Given the description of an element on the screen output the (x, y) to click on. 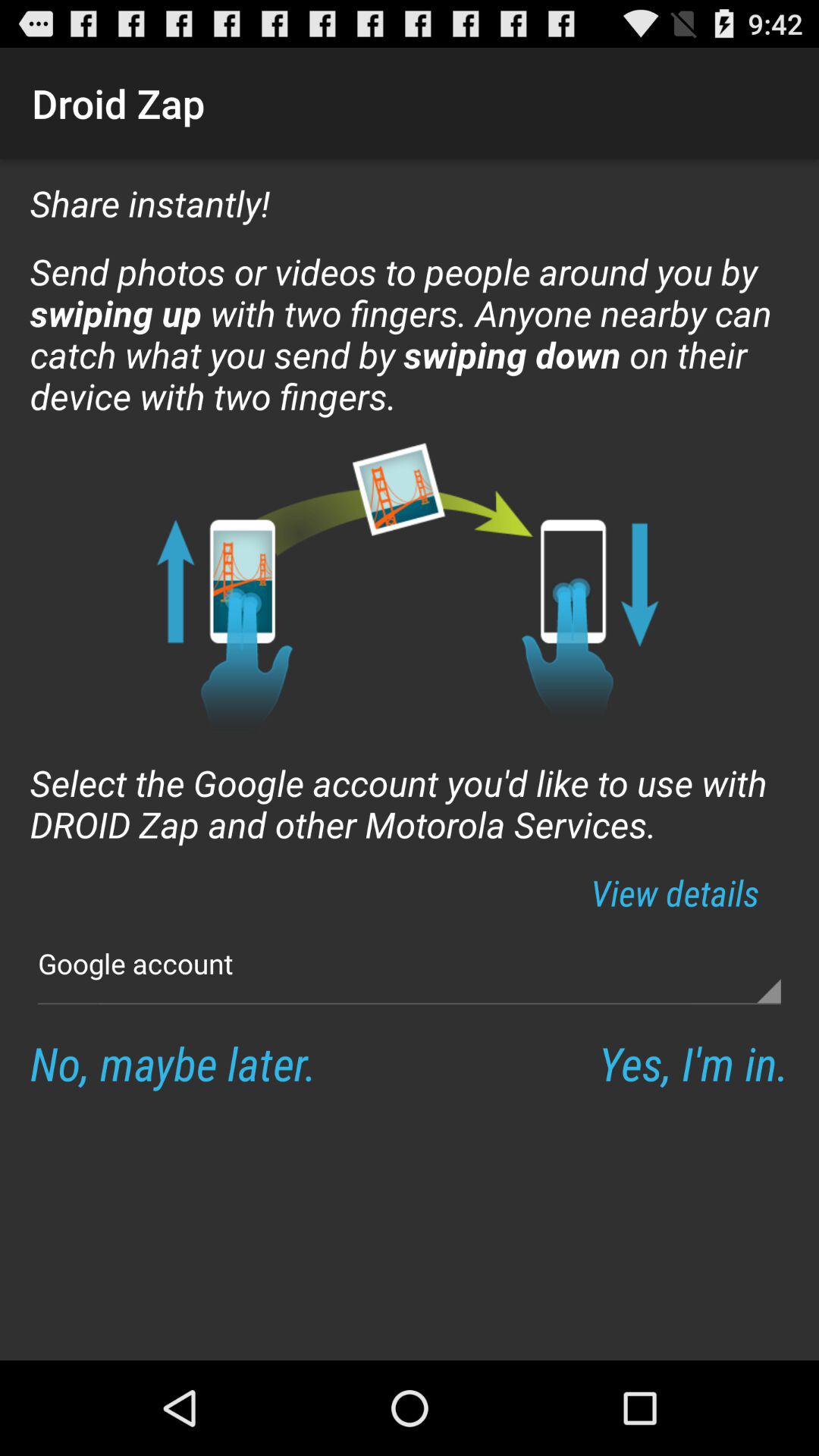
click icon at the bottom right corner (693, 1062)
